Given the description of an element on the screen output the (x, y) to click on. 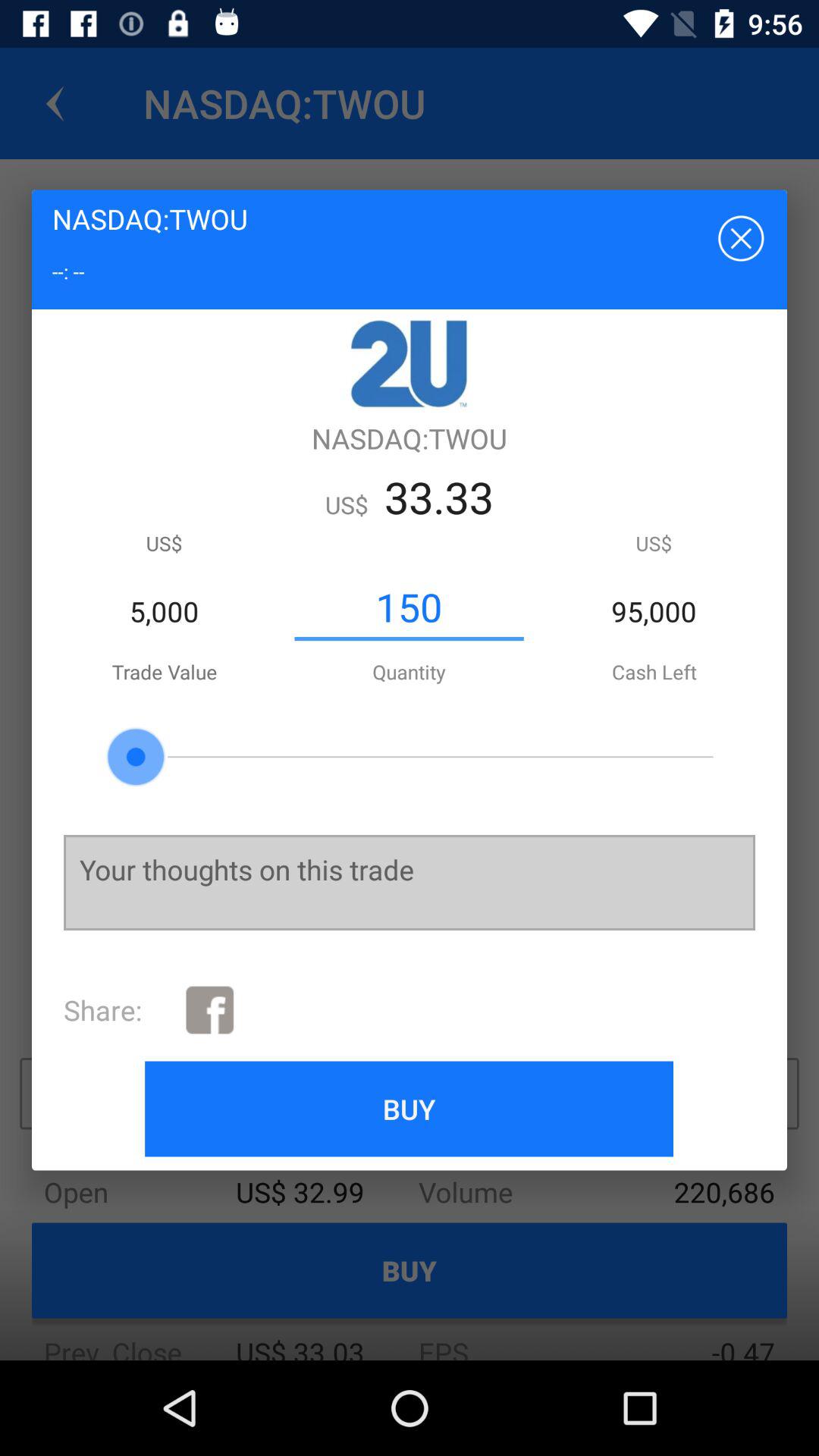
select icon next to the us$ (408, 607)
